Given the description of an element on the screen output the (x, y) to click on. 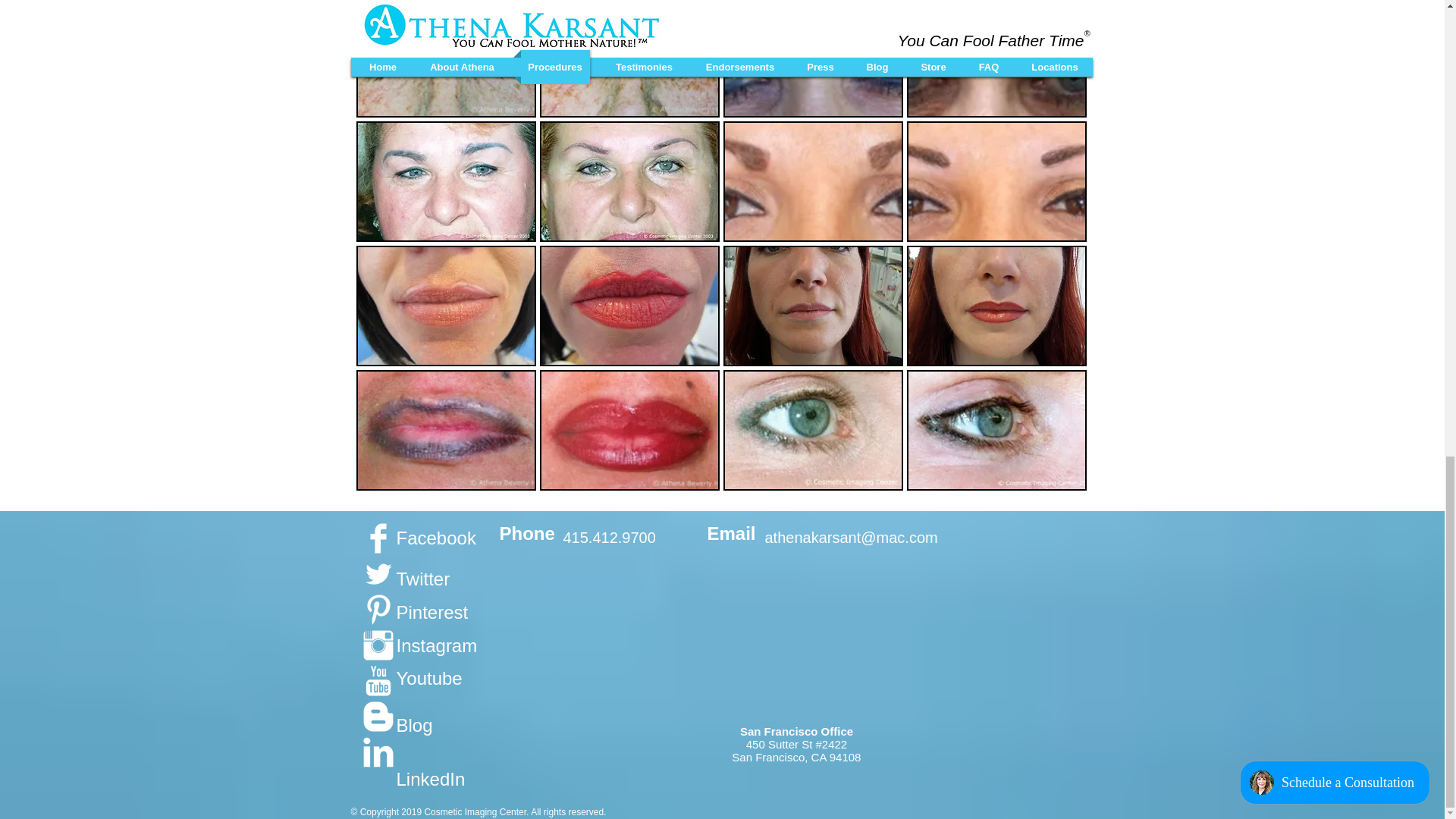
Google Maps (796, 640)
